Given the description of an element on the screen output the (x, y) to click on. 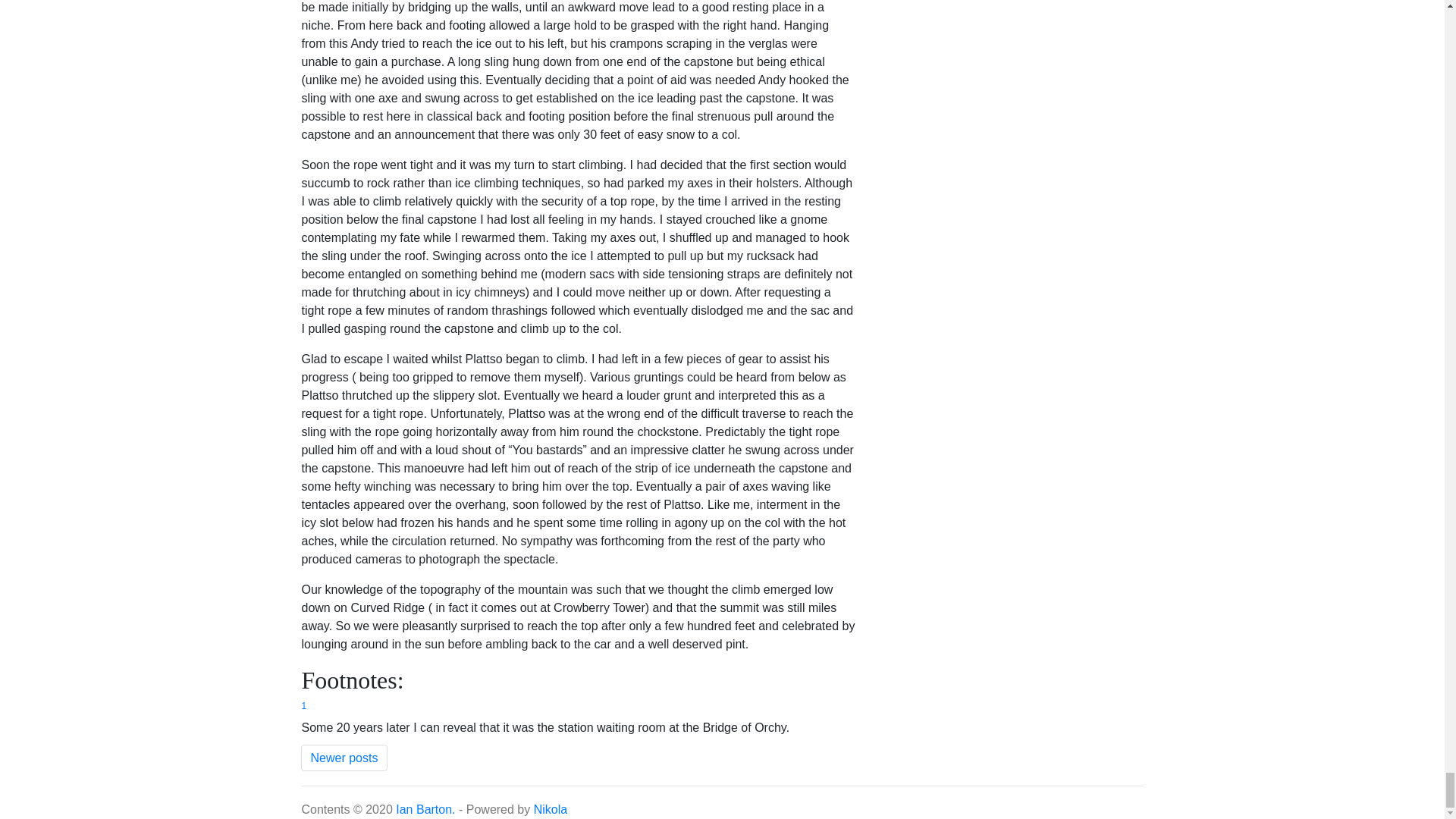
Newer posts (343, 757)
